Given the description of an element on the screen output the (x, y) to click on. 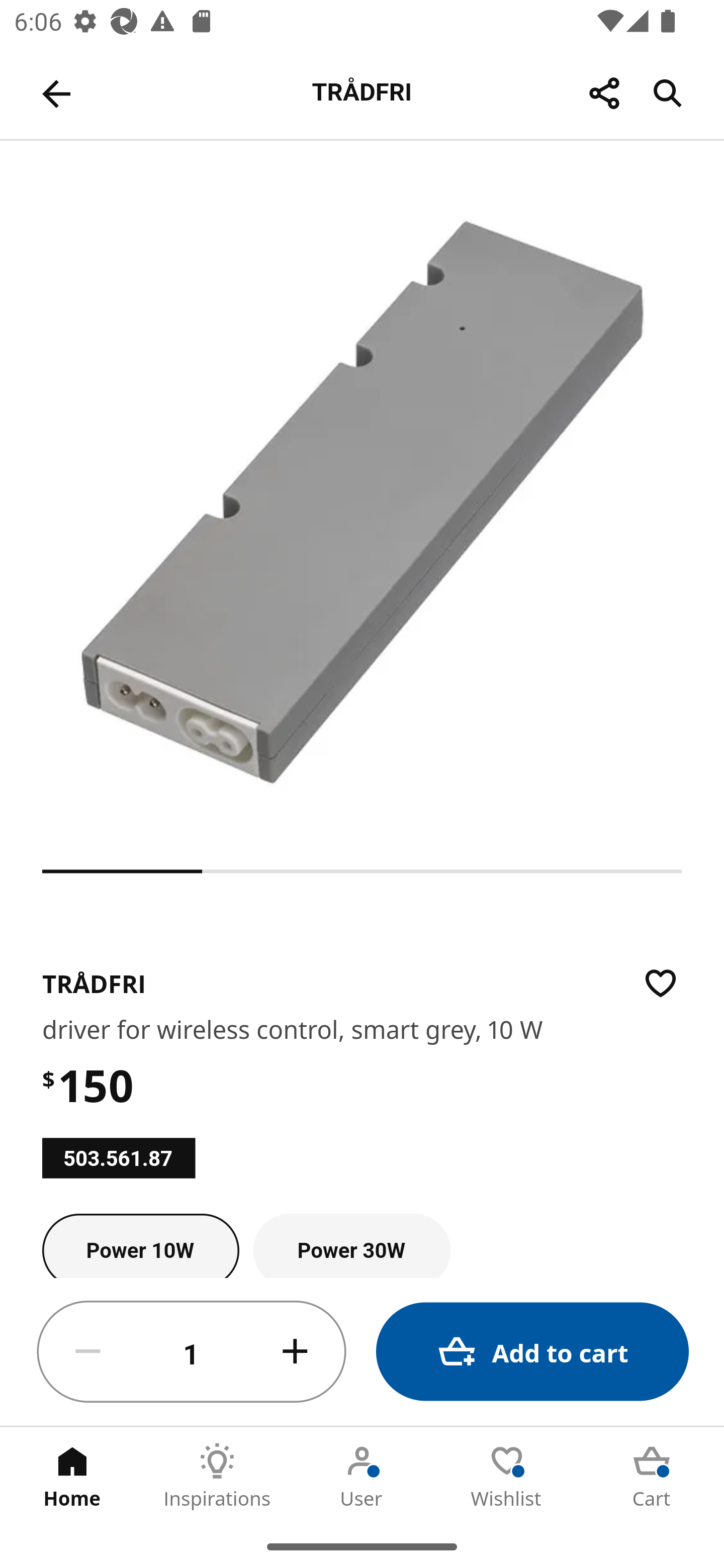
Power 10W (140, 1245)
Power 30W (351, 1245)
Add to cart (531, 1352)
1 (191, 1352)
Home
Tab 1 of 5 (72, 1476)
Inspirations
Tab 2 of 5 (216, 1476)
User
Tab 3 of 5 (361, 1476)
Wishlist
Tab 4 of 5 (506, 1476)
Cart
Tab 5 of 5 (651, 1476)
